Given the description of an element on the screen output the (x, y) to click on. 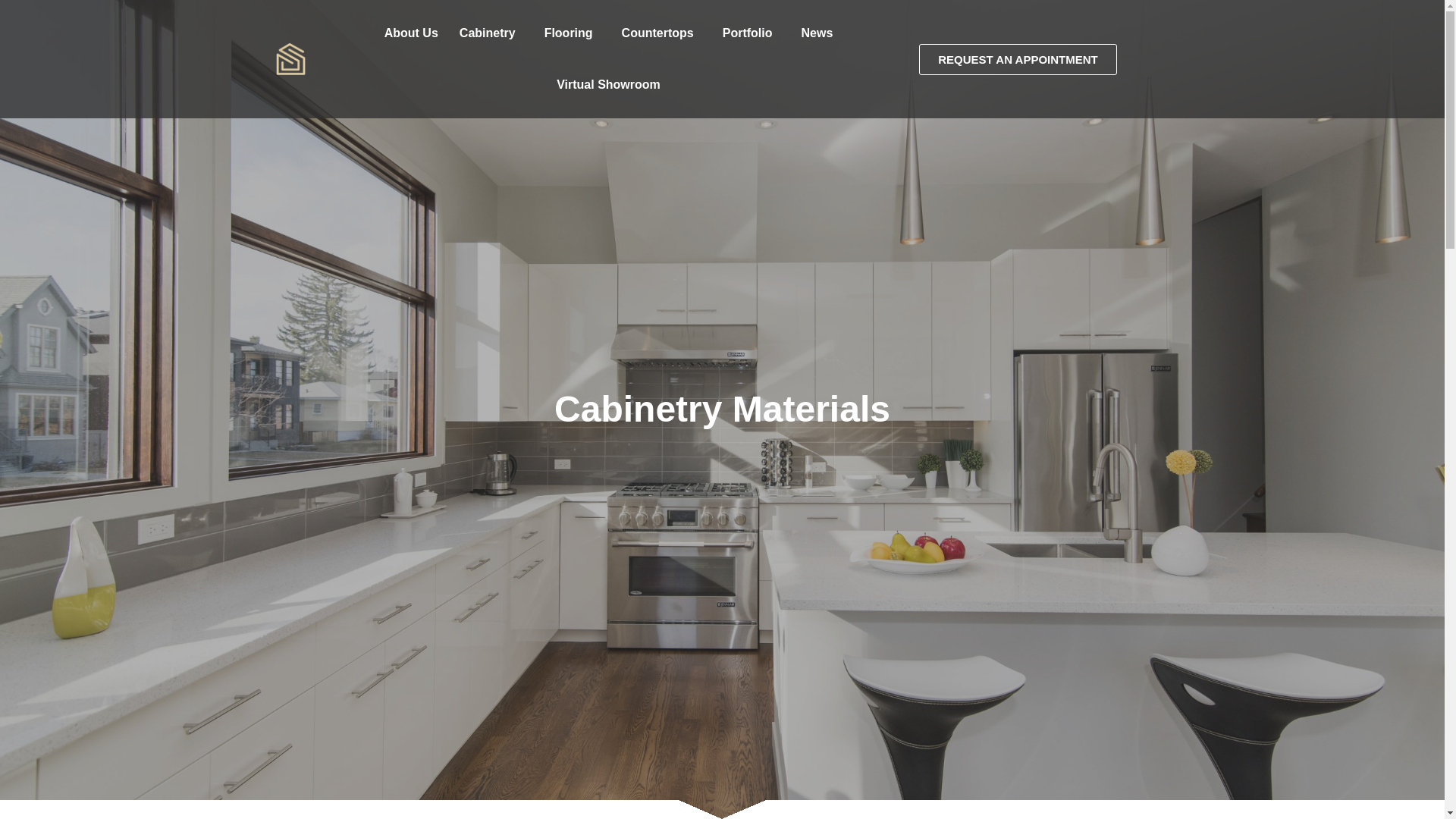
Portfolio (750, 33)
Countertops (661, 38)
Flooring (572, 50)
Cabinetry (491, 71)
News (816, 32)
Virtual Showroom (608, 84)
About Us (411, 78)
